Given the description of an element on the screen output the (x, y) to click on. 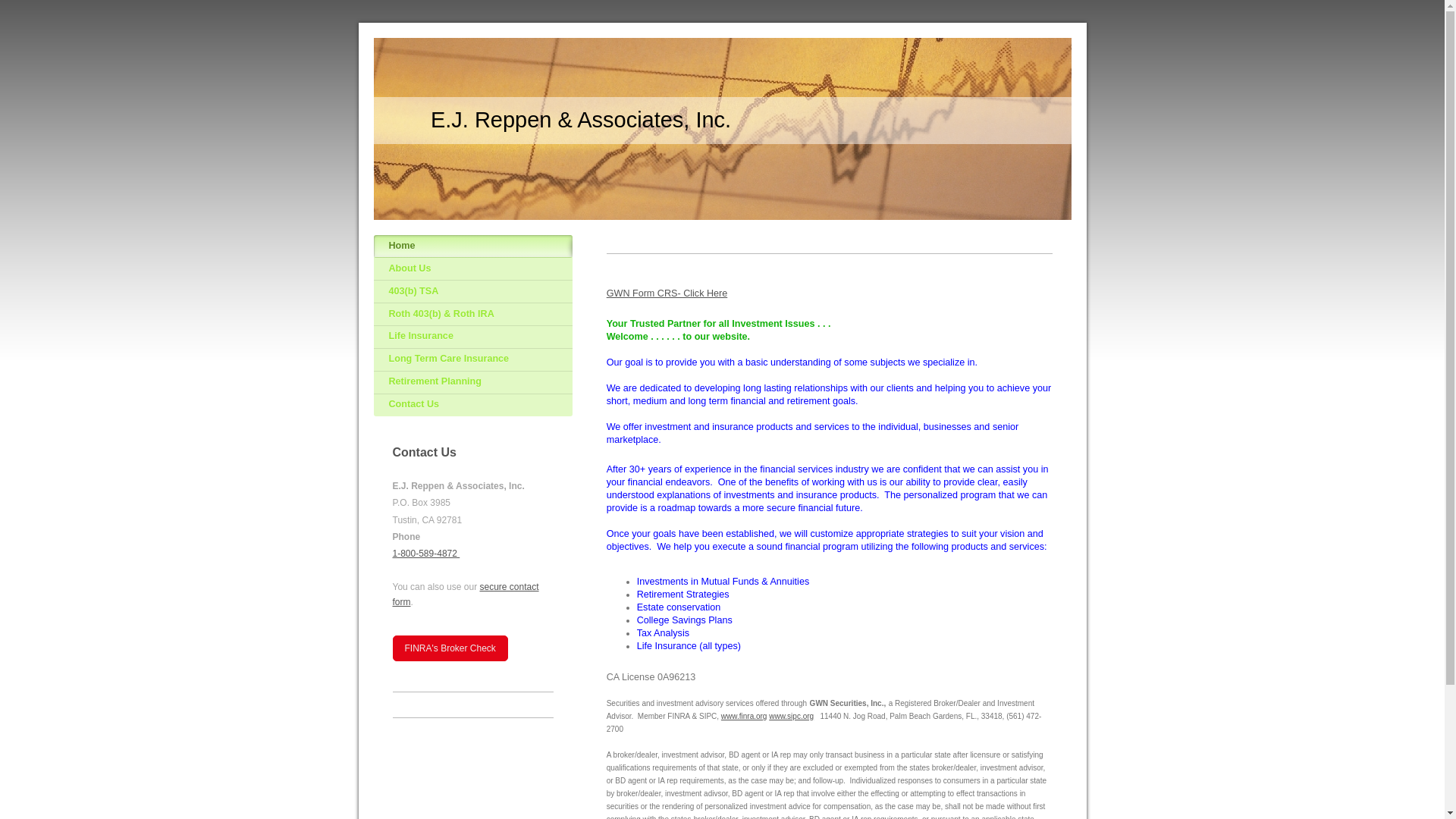
www.sipc.org (790, 715)
GWN Form CRS- Click Here (667, 293)
1-800-589-4872  (426, 552)
Contact Us (472, 404)
Retirement Planning (472, 382)
secure contact form (465, 593)
About Us (472, 268)
Life Insurance (472, 336)
Home (472, 246)
Long Term Care Insurance (472, 359)
